Given the description of an element on the screen output the (x, y) to click on. 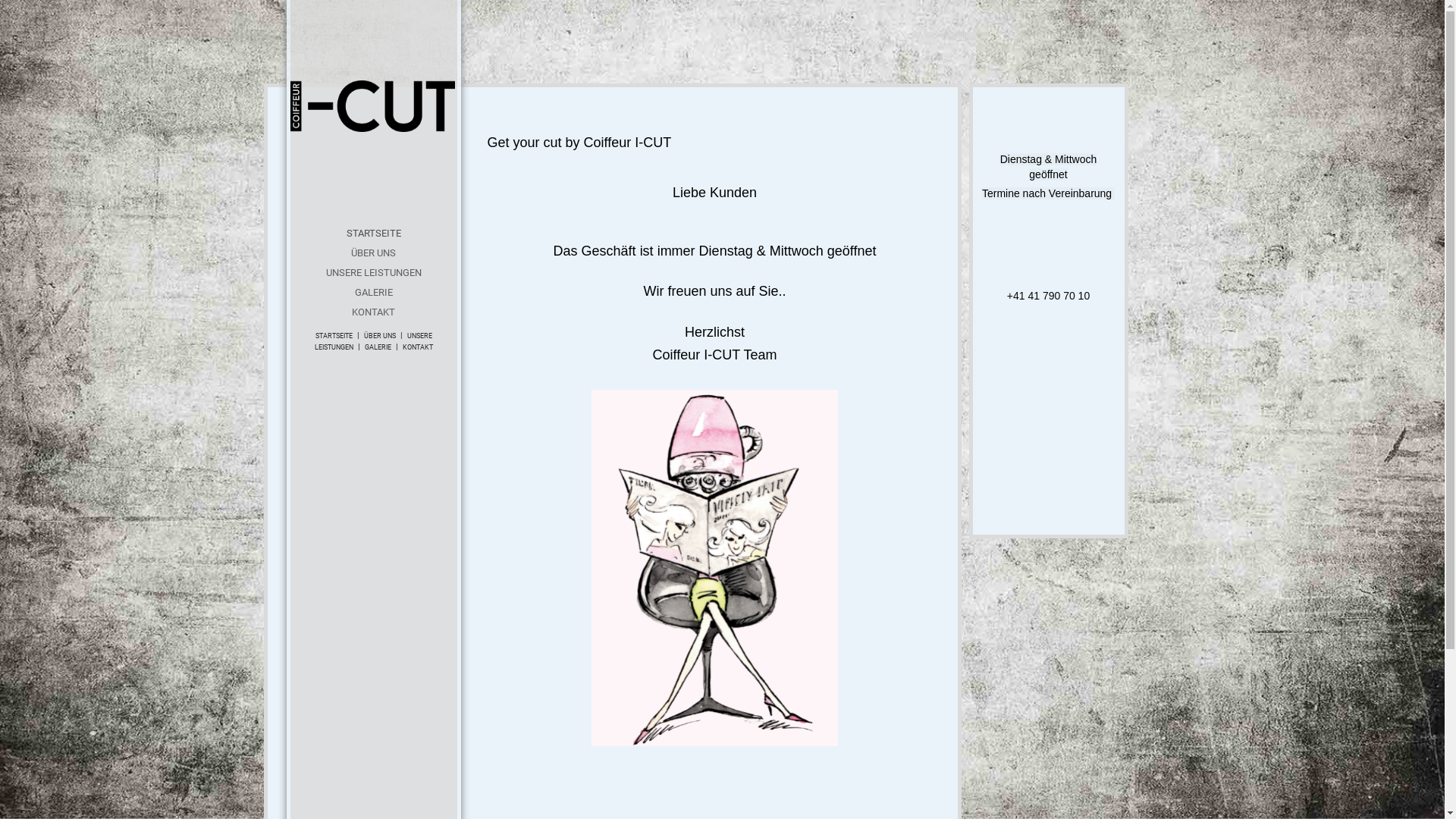
KONTAKT Element type: text (372, 311)
GALERIE Element type: text (372, 291)
GALERIE Element type: text (377, 347)
STARTSEITE Element type: text (333, 335)
UNSERE LEISTUNGEN Element type: text (372, 341)
  Element type: text (372, 106)
UNSERE LEISTUNGEN Element type: text (372, 272)
STARTSEITE Element type: text (372, 232)
KONTAKT Element type: text (416, 347)
